Given the description of an element on the screen output the (x, y) to click on. 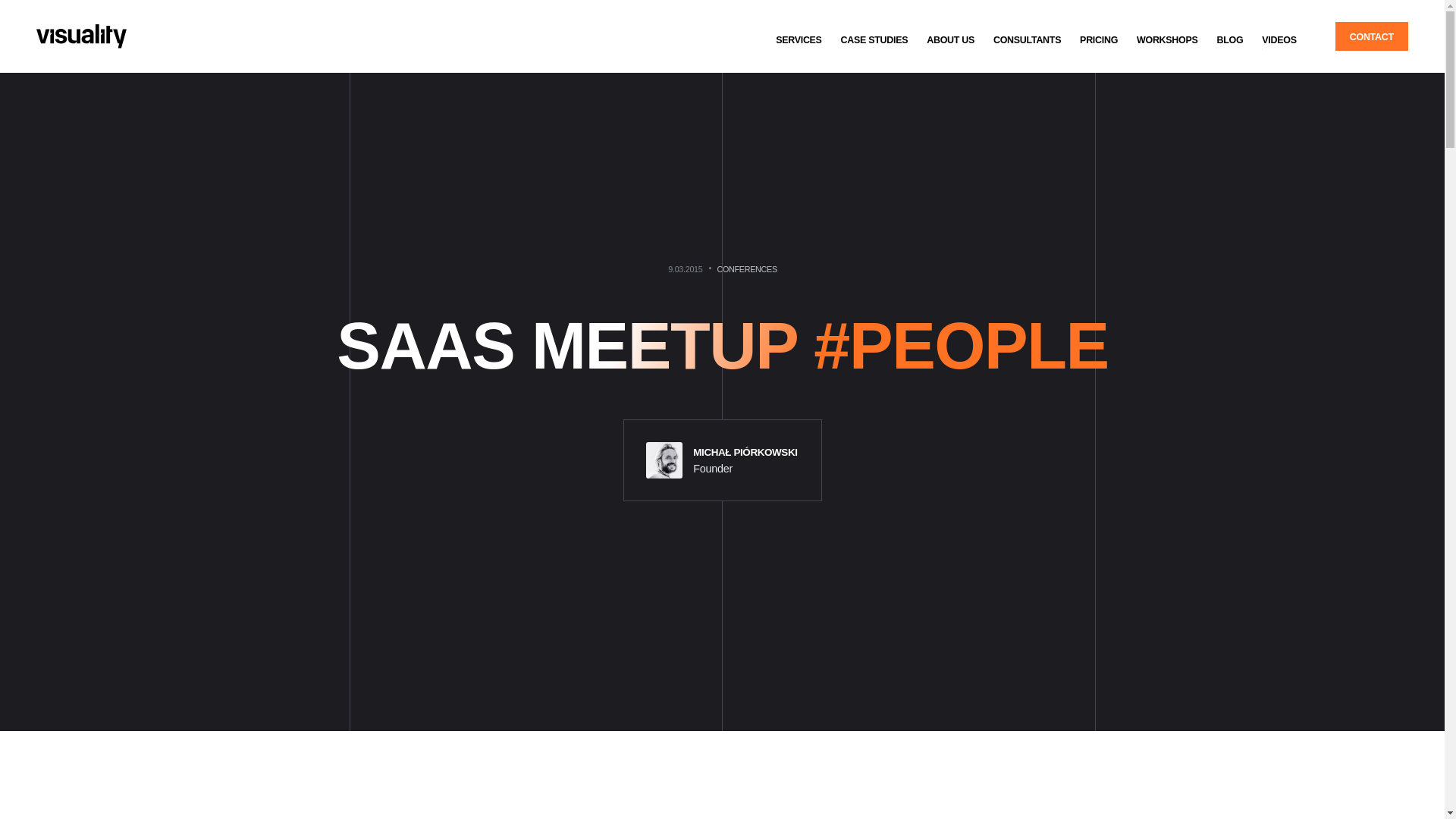
SERVICES (799, 39)
VIDEOS (1279, 39)
CONSULTANTS (1027, 39)
PRICING (1098, 39)
BLOG (1229, 39)
CONTACT (1371, 36)
WORKSHOPS (1166, 39)
CASE STUDIES (874, 39)
ABOUT US (950, 39)
